Given the description of an element on the screen output the (x, y) to click on. 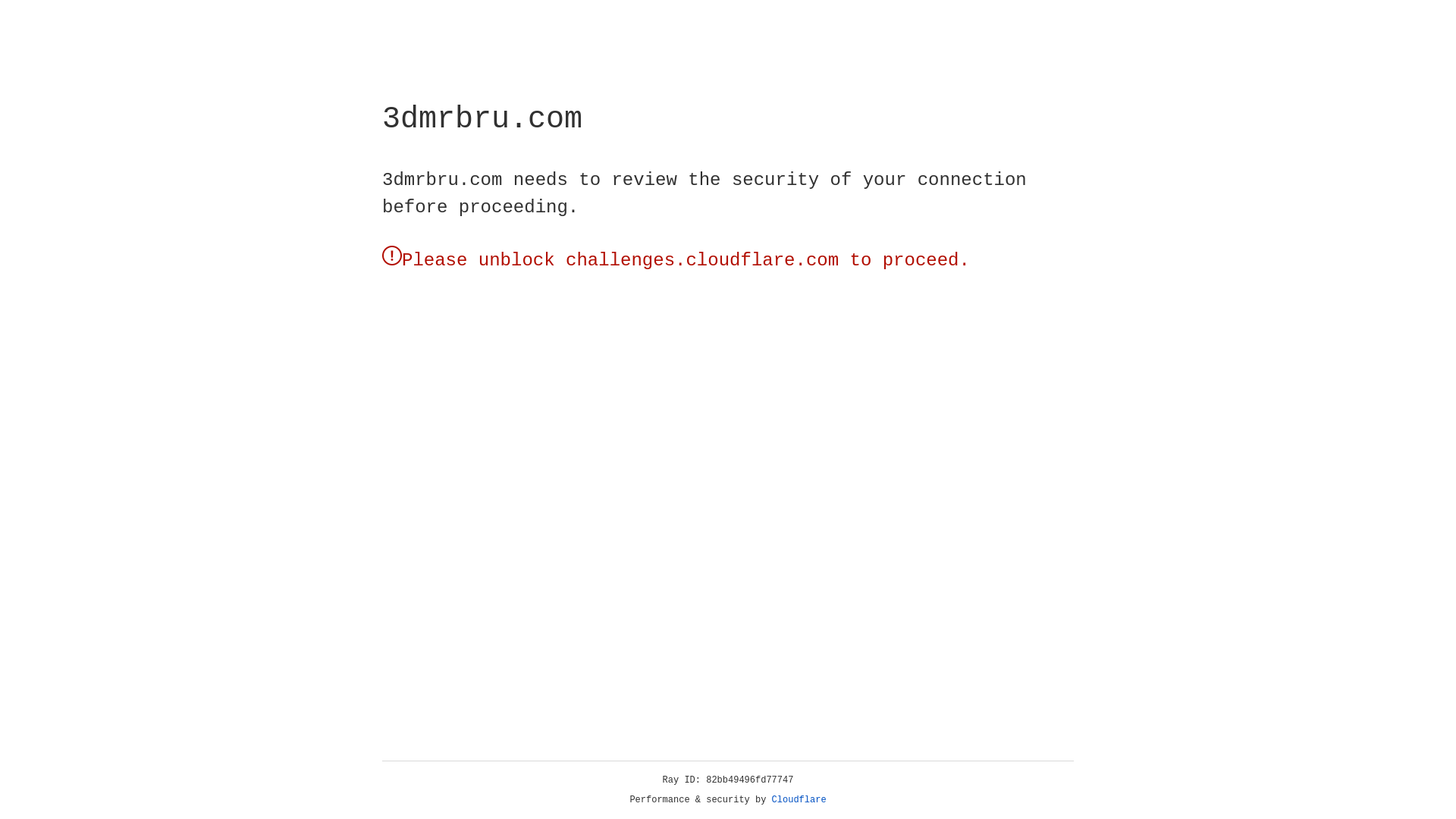
Cloudflare Element type: text (798, 799)
